Given the description of an element on the screen output the (x, y) to click on. 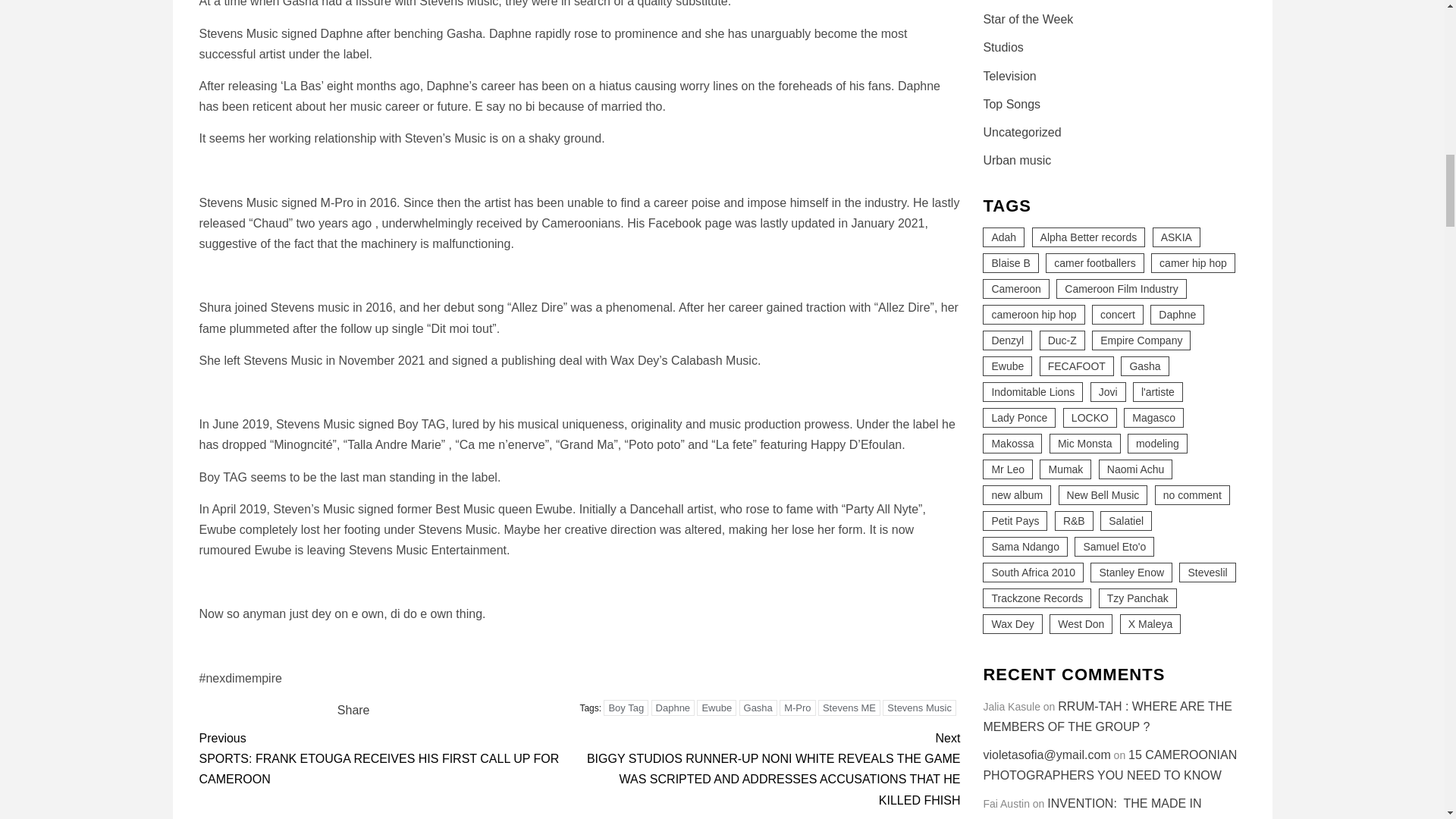
Stevens Music (919, 707)
Gasha (758, 707)
Boy Tag (625, 707)
Share (353, 709)
M-Pro (796, 707)
Ewube (716, 707)
Stevens ME (849, 707)
Daphne (672, 707)
